Given the description of an element on the screen output the (x, y) to click on. 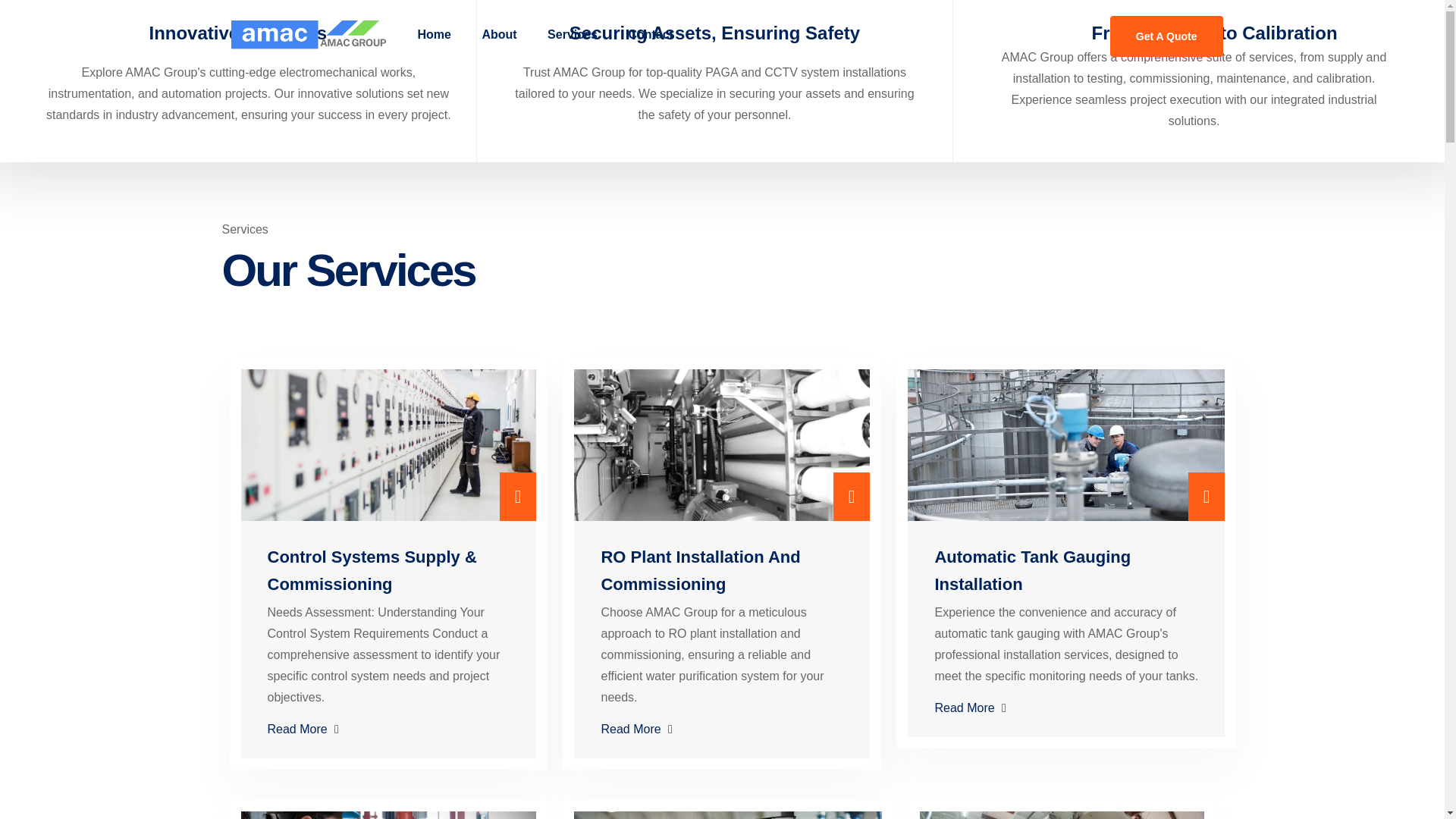
Read More (1066, 707)
Read More (721, 729)
Read More (387, 729)
Services (572, 34)
Contact (650, 34)
RO Plant Installation And Commissioning (699, 570)
Automatic Tank Gauging Installation (1032, 570)
Services (572, 34)
Contact (650, 34)
Get A Quote (1166, 35)
